Given the description of an element on the screen output the (x, y) to click on. 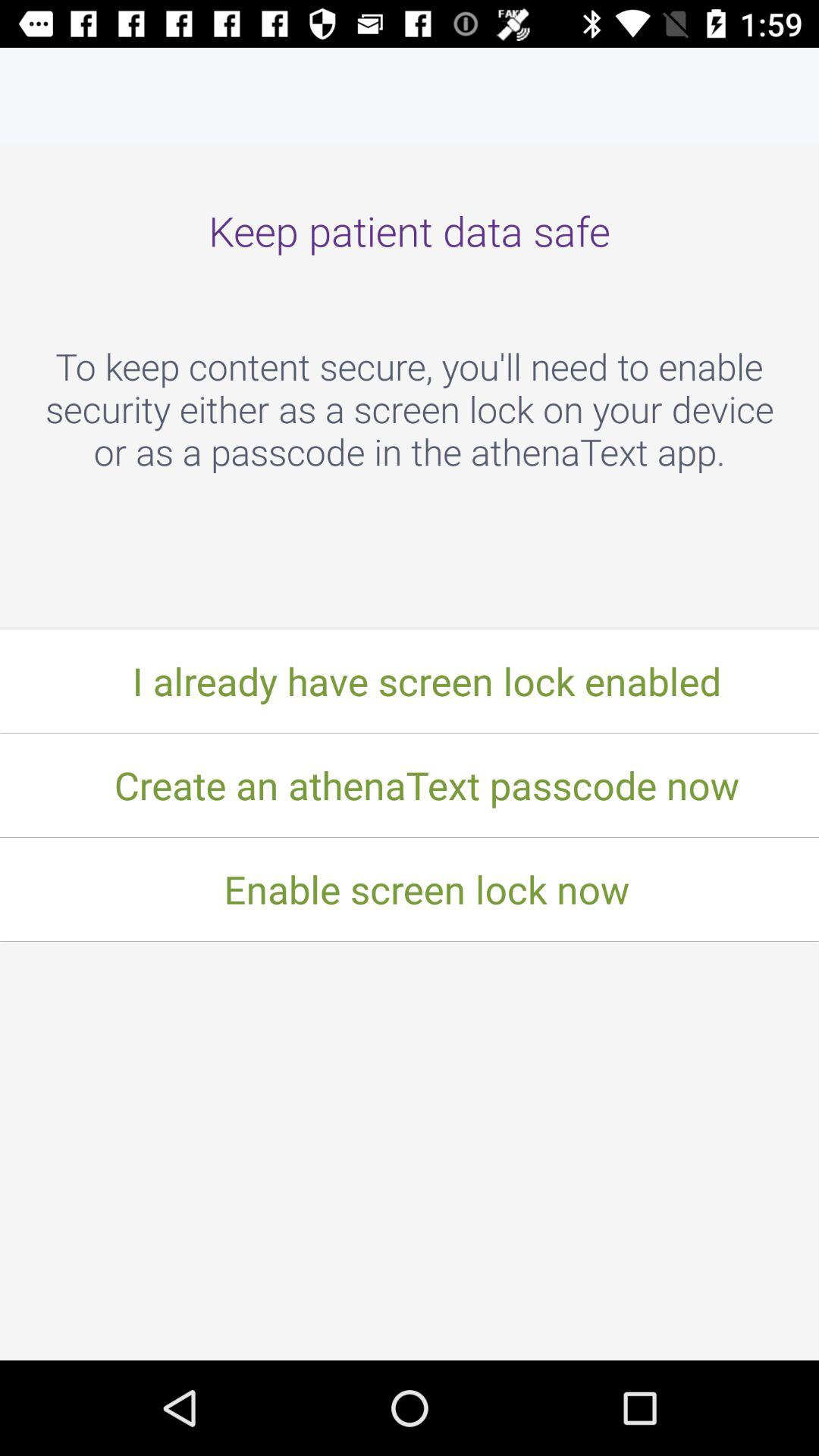
flip to i already have icon (409, 681)
